Given the description of an element on the screen output the (x, y) to click on. 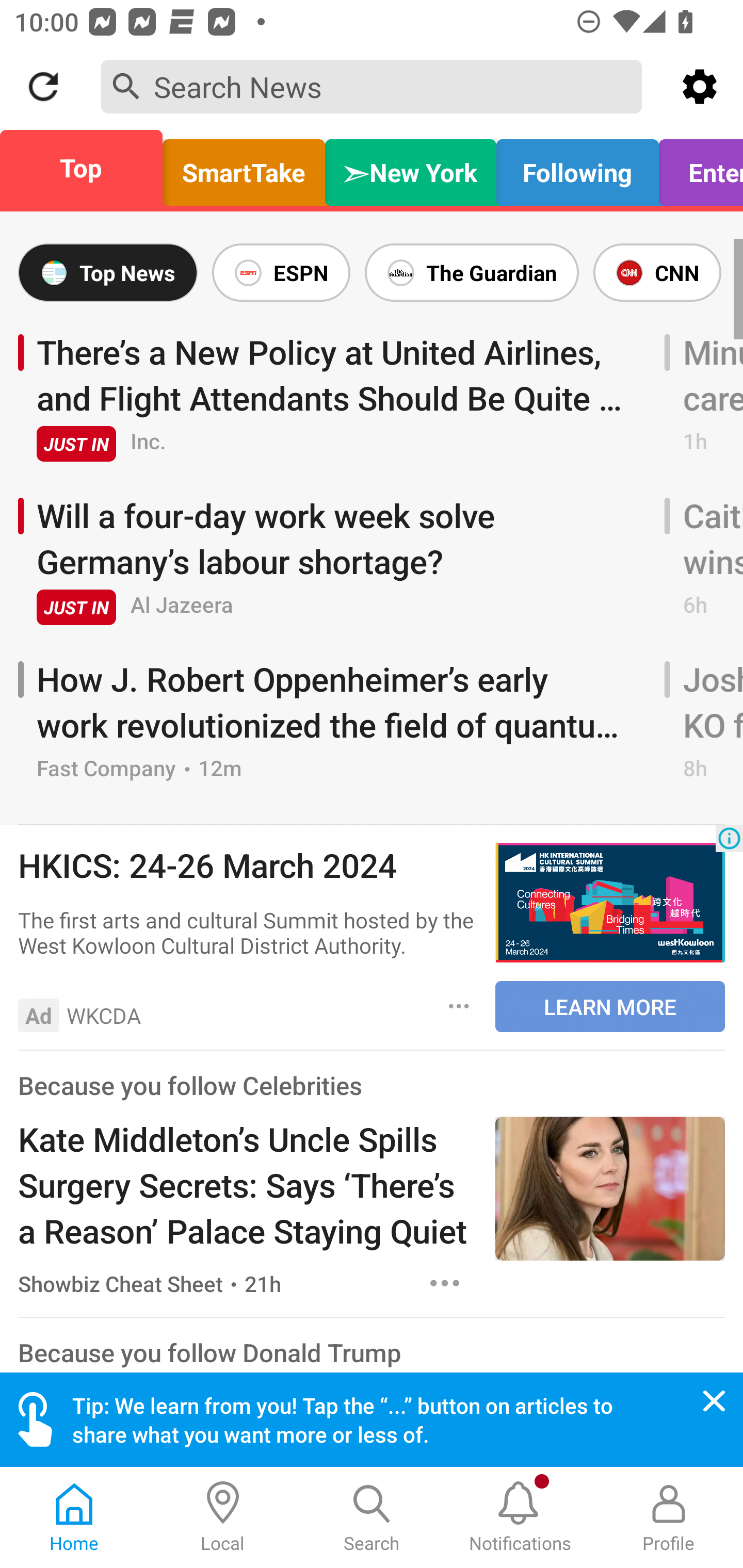
Search News (371, 85)
Top (86, 167)
SmartTake (243, 167)
➣New York (410, 167)
Following (577, 167)
ESPN (281, 272)
The Guardian (471, 272)
CNN (657, 272)
JUST IN (75, 443)
JUST IN (75, 607)
Ad Choices Icon (729, 837)
HKICS: 24-26 March 2024 (247, 865)
LEARN MORE (610, 1006)
Options (459, 1005)
WKCDA (103, 1015)
Because you follow Celebrities (189, 1084)
Options (444, 1283)
Because you follow Donald Trump (209, 1351)
Close (714, 1401)
Local (222, 1517)
Search (371, 1517)
Notifications, New notification Notifications (519, 1517)
Profile (668, 1517)
